Given the description of an element on the screen output the (x, y) to click on. 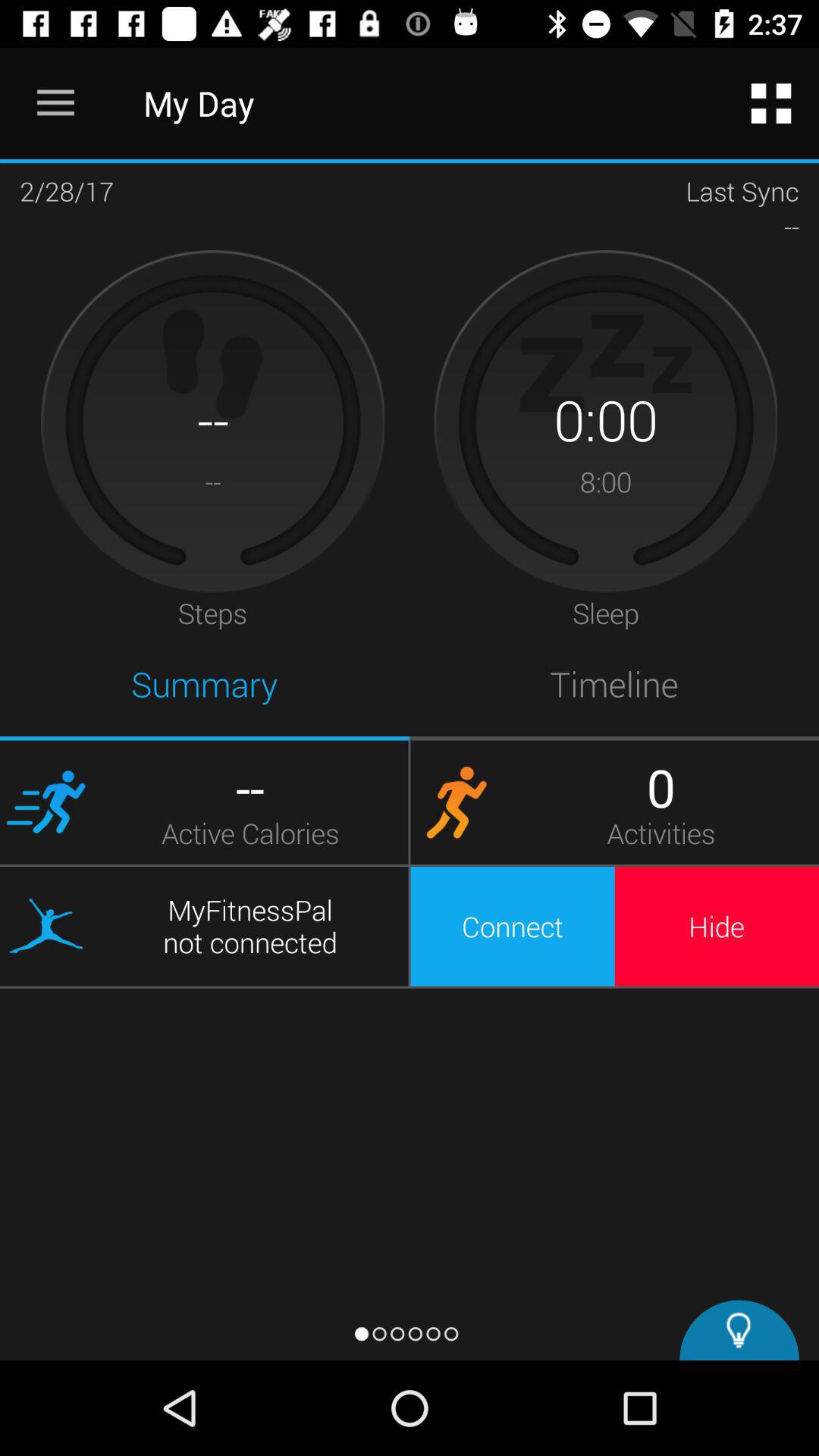
select item to the right of my day (771, 103)
